Given the description of an element on the screen output the (x, y) to click on. 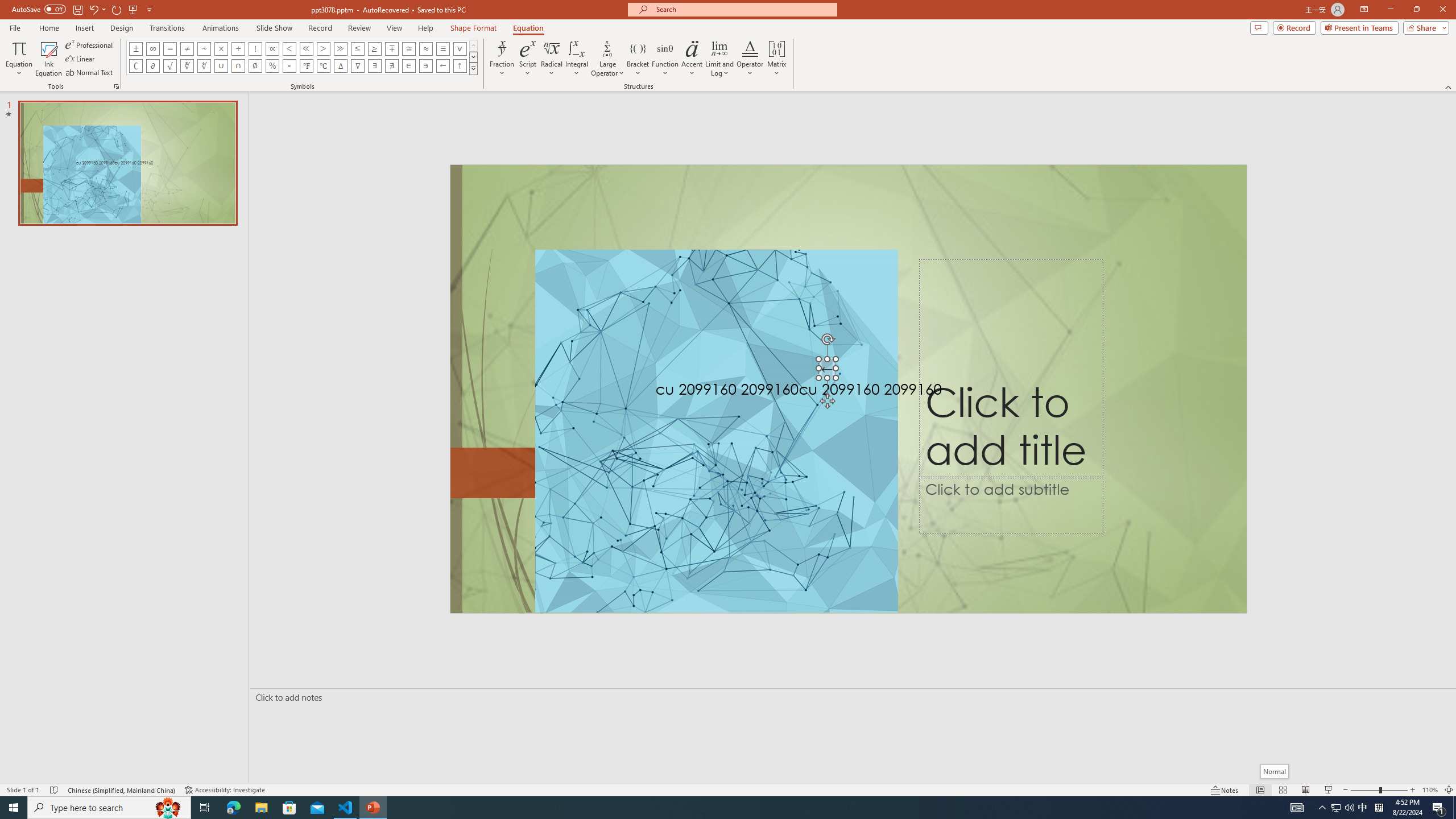
Equation Options... (116, 85)
Equation Symbol Almost Equal To (Asymptotic To) (425, 48)
Equation Symbol Much Less Than (306, 48)
Equation Symbol Contains as Member (425, 65)
Accent (691, 58)
Equation Symbol For All (459, 48)
